Given the description of an element on the screen output the (x, y) to click on. 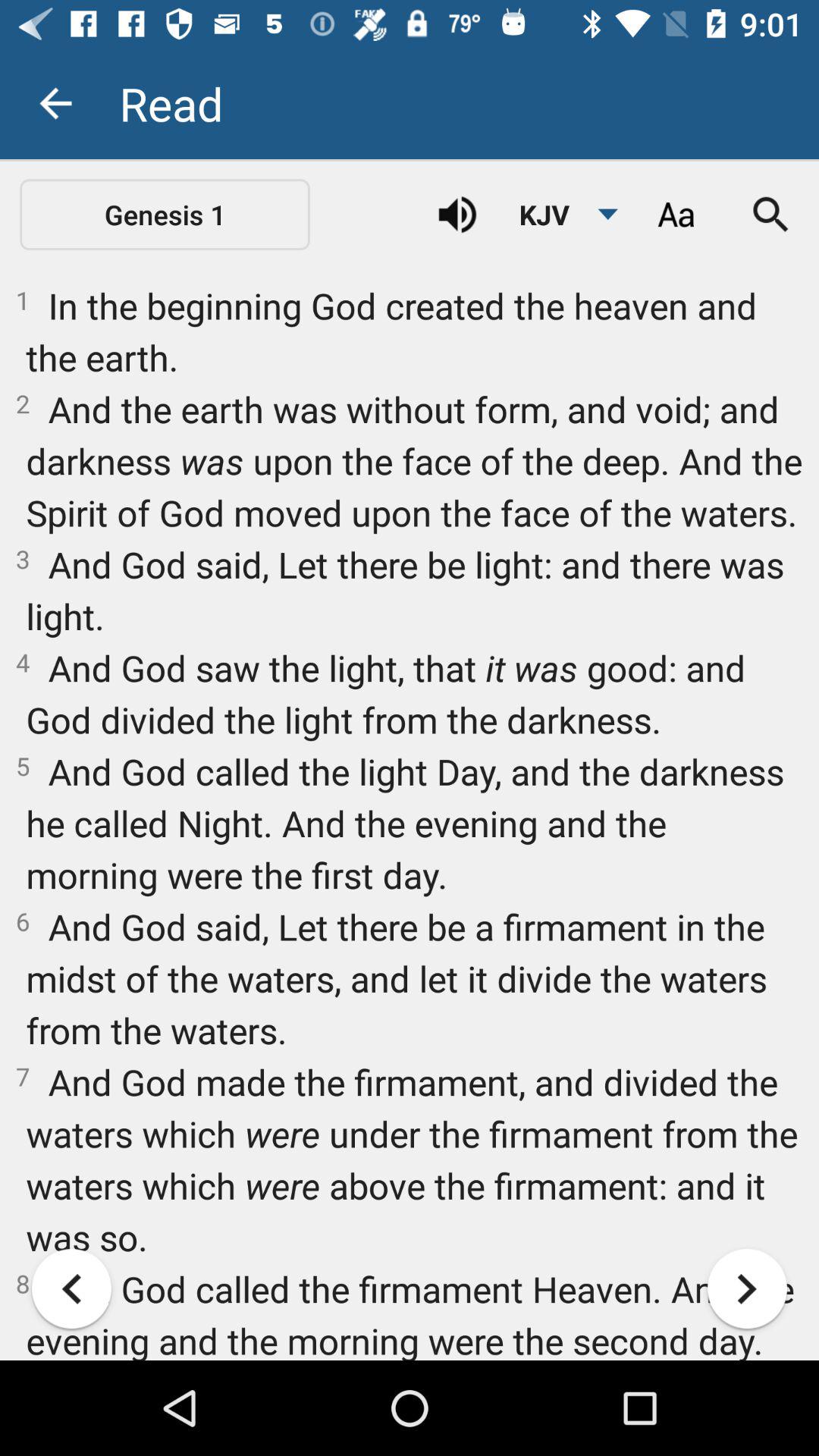
page forward (747, 1288)
